Given the description of an element on the screen output the (x, y) to click on. 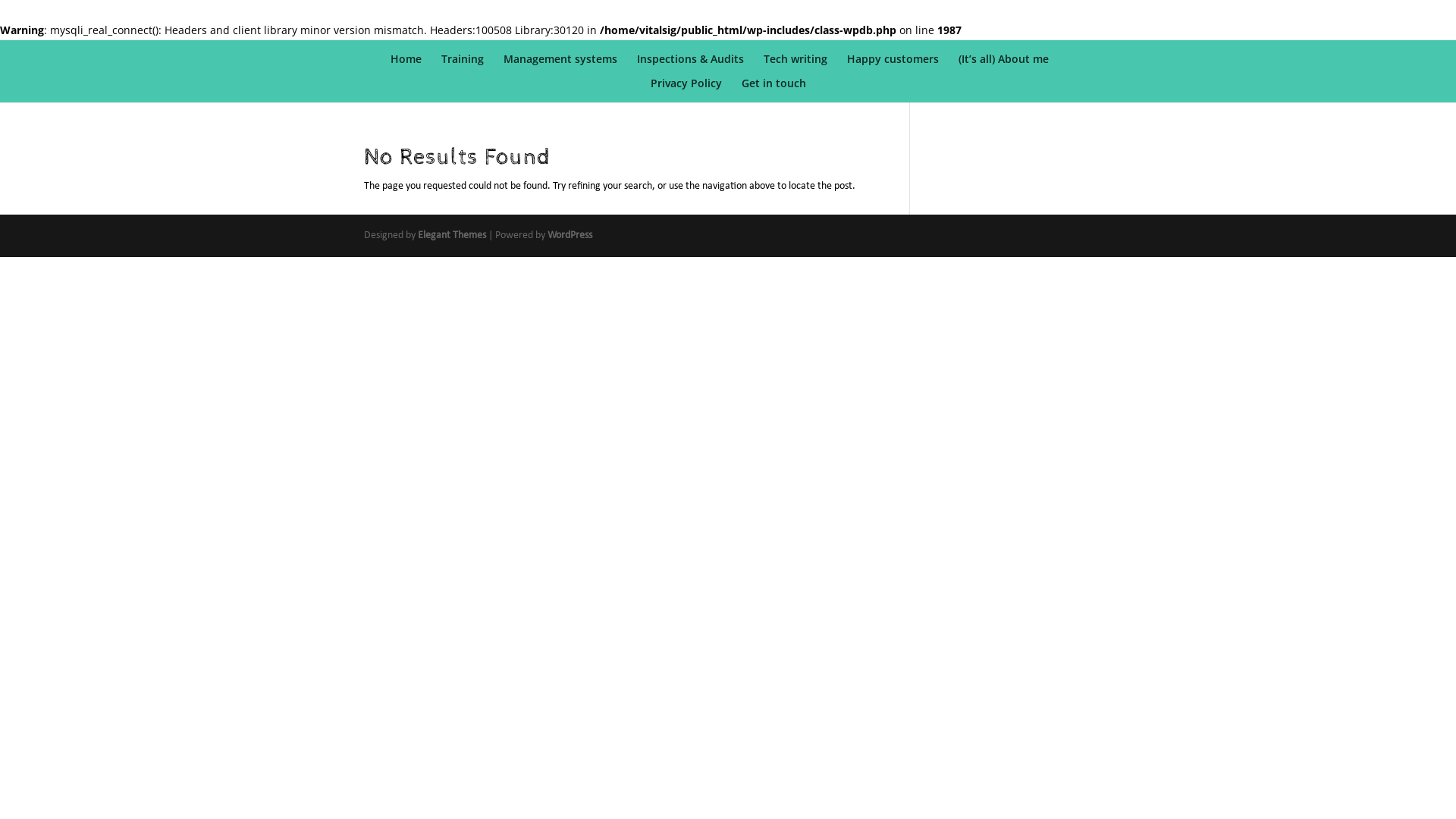
Tech writing Element type: text (795, 65)
WordPress Element type: text (569, 235)
Happy customers Element type: text (892, 65)
Inspections & Audits Element type: text (690, 65)
Privacy Policy Element type: text (685, 90)
Training Element type: text (462, 65)
Home Element type: text (405, 65)
Elegant Themes Element type: text (451, 235)
Management systems Element type: text (560, 65)
Get in touch Element type: text (773, 90)
